Given the description of an element on the screen output the (x, y) to click on. 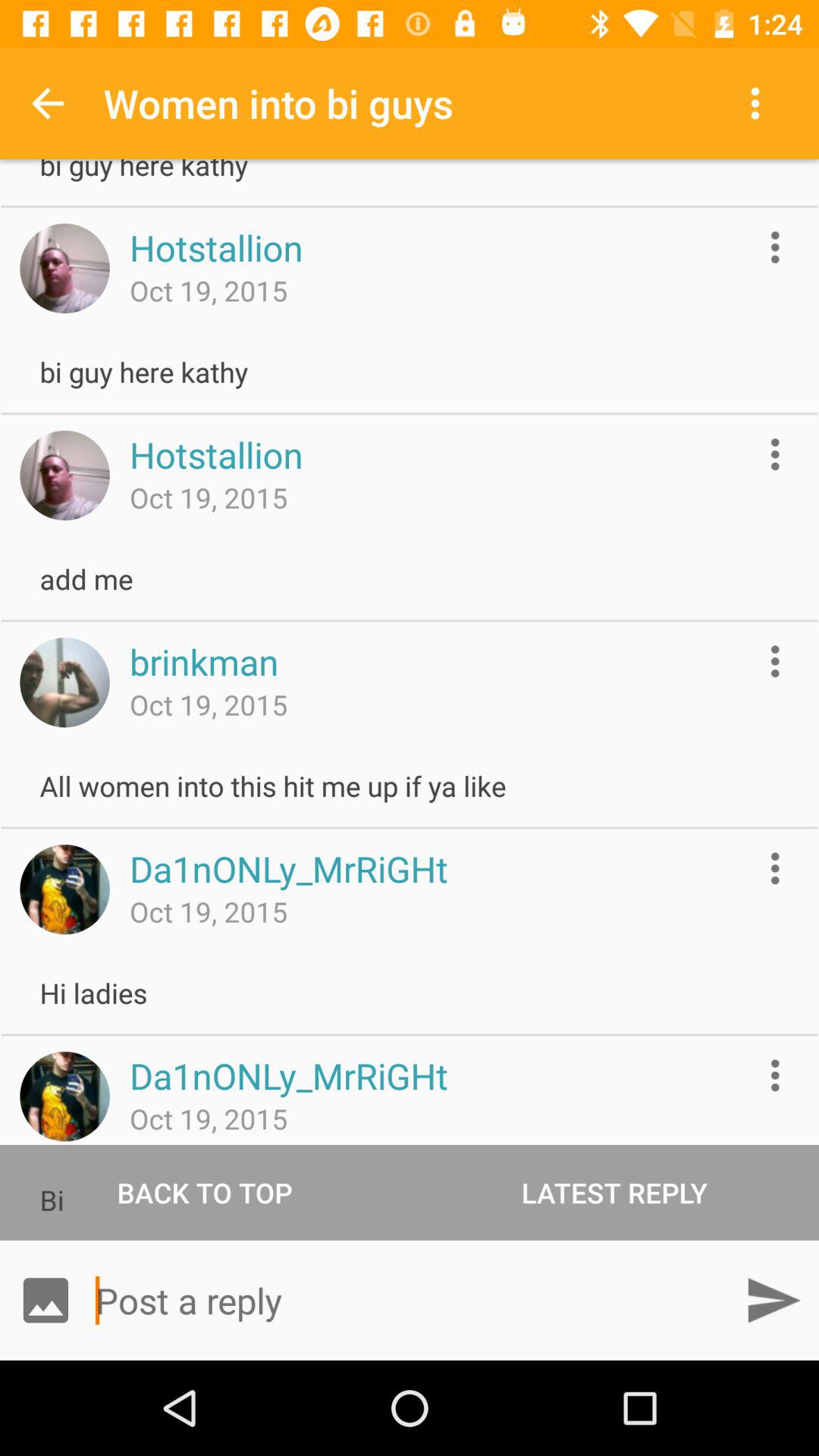
the image is someone 's profile picture and will take you to their profile (64, 682)
